Given the description of an element on the screen output the (x, y) to click on. 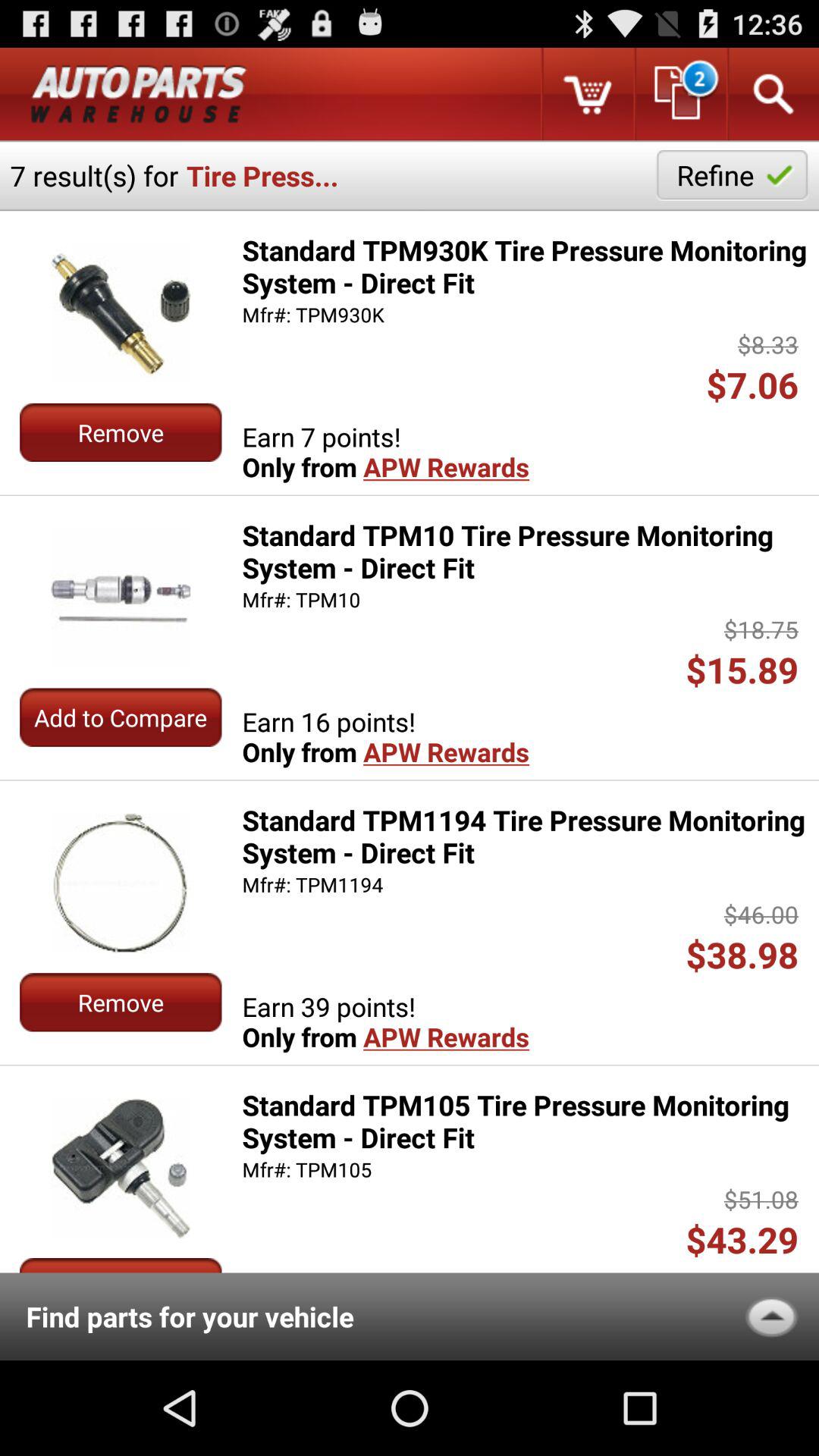
search button (772, 93)
